Given the description of an element on the screen output the (x, y) to click on. 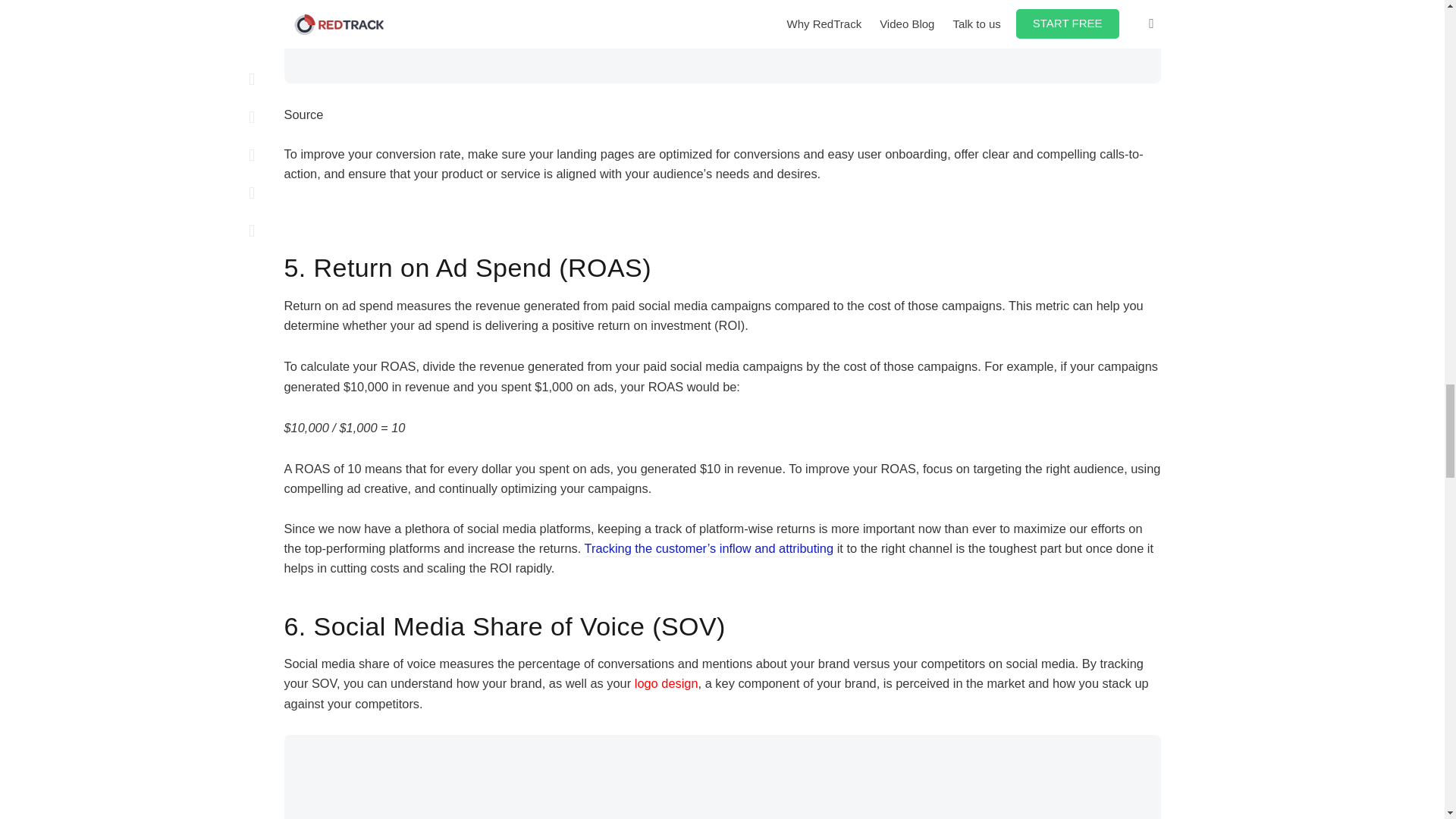
logo design (666, 683)
Source (303, 123)
improve your conversion rate (379, 153)
